Given the description of an element on the screen output the (x, y) to click on. 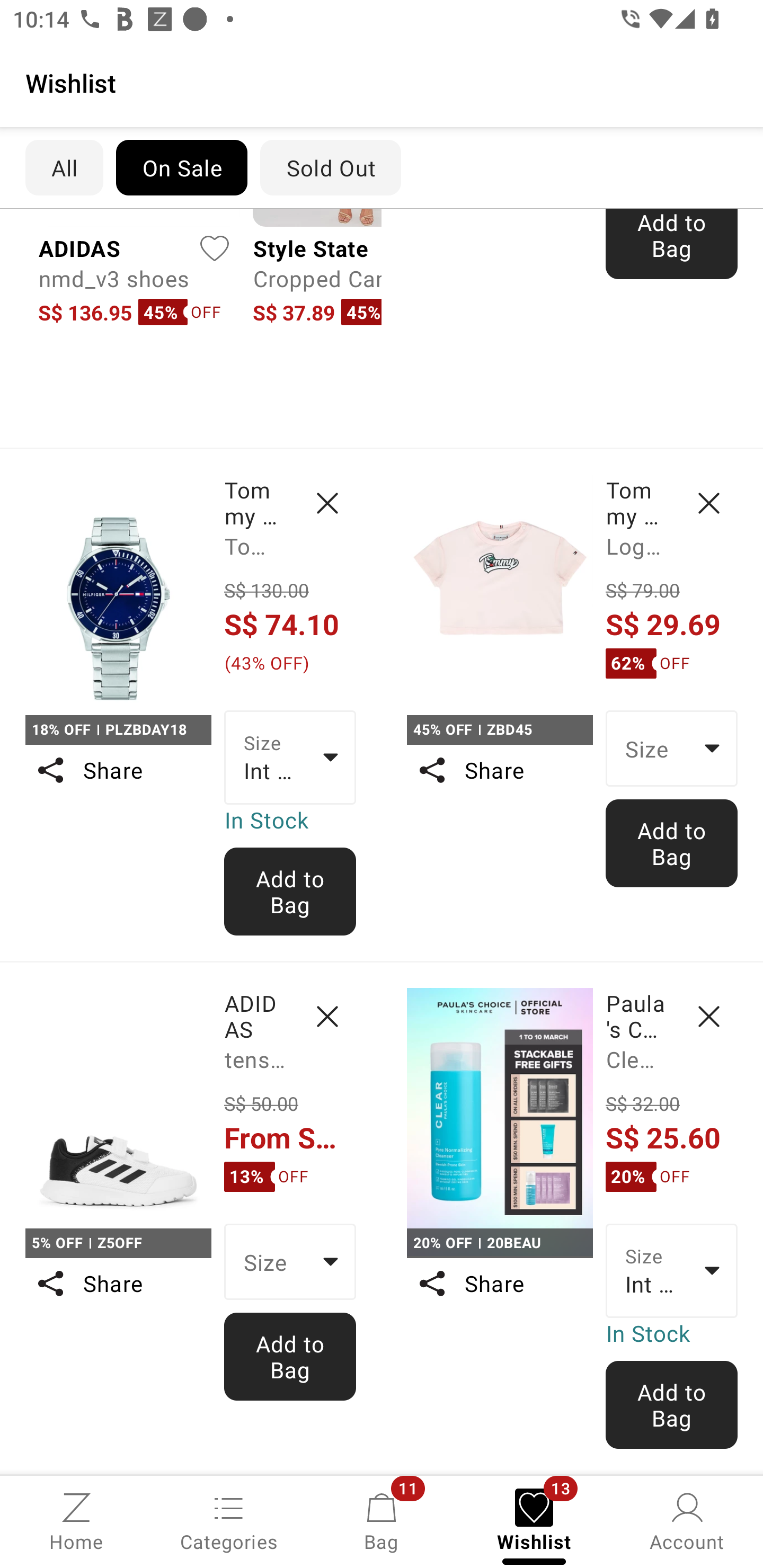
Wishlist (381, 82)
All (64, 167)
On Sale (181, 167)
Sold Out (330, 167)
Add to Bag (671, 243)
Size Int One Size (290, 757)
Size (671, 748)
Share (118, 769)
Share (499, 769)
Add to Bag (671, 843)
Add to Bag (290, 892)
Size (290, 1261)
Size Int 177 ml (671, 1270)
Share (118, 1283)
Share (499, 1283)
Add to Bag (290, 1356)
Add to Bag (671, 1404)
Home (76, 1519)
Categories (228, 1519)
Bag, 11 new notifications Bag (381, 1519)
Account (686, 1519)
